Given the description of an element on the screen output the (x, y) to click on. 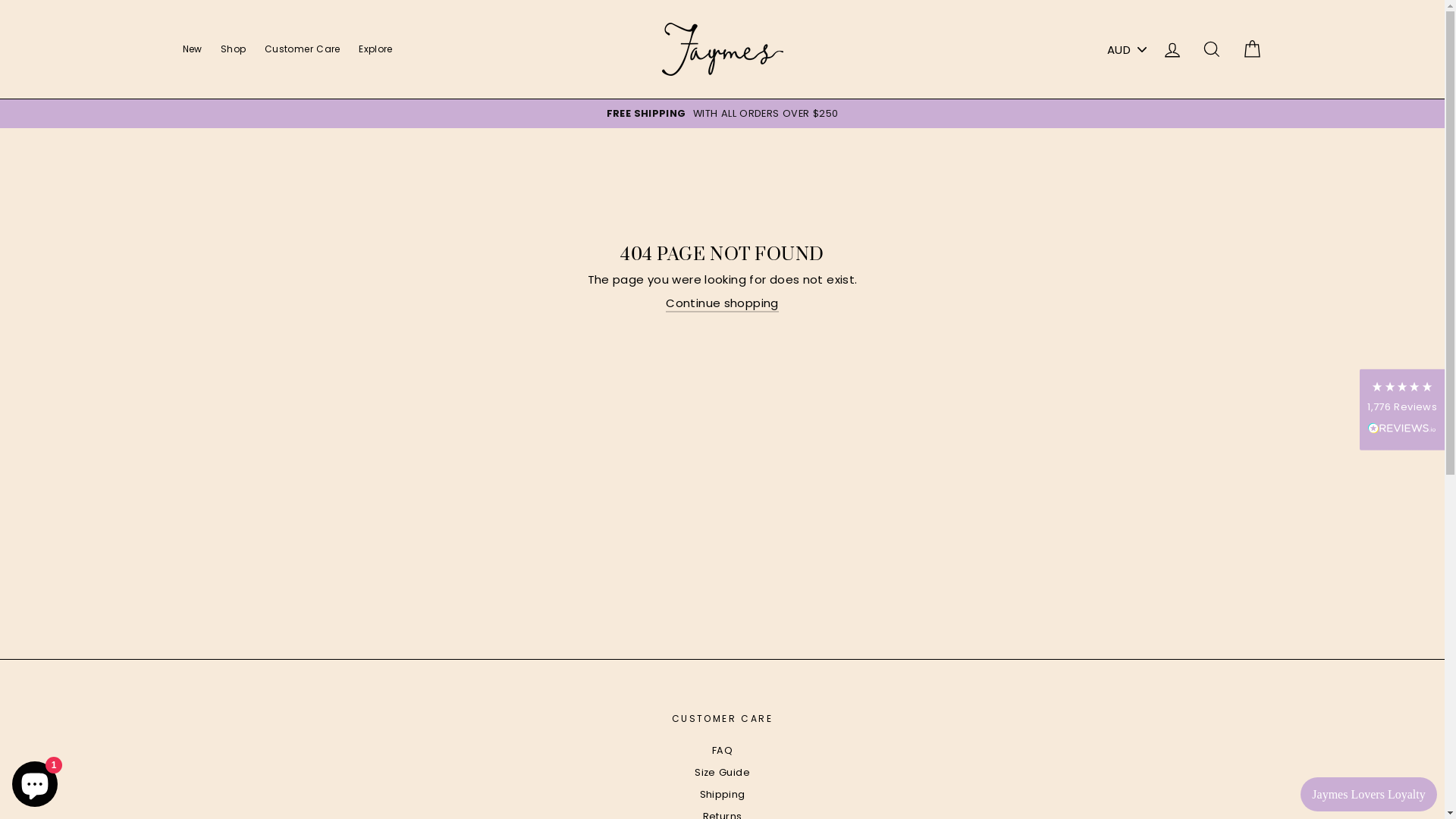
Shipping Element type: text (721, 794)
Size Guide Element type: text (721, 772)
5 Stars Element type: hover (1402, 386)
Continue shopping Element type: text (721, 303)
Customer Care Element type: text (302, 49)
Log in Element type: text (1172, 49)
Explore Element type: text (375, 49)
Cart Element type: text (1251, 49)
Shop Element type: text (233, 49)
New Element type: text (191, 49)
FAQ Element type: text (722, 750)
Shopify online store chat Element type: hover (34, 780)
REVIEWS.io Element type: hover (1402, 427)
Skip to content Element type: text (0, 0)
Search Element type: text (1211, 49)
